Given the description of an element on the screen output the (x, y) to click on. 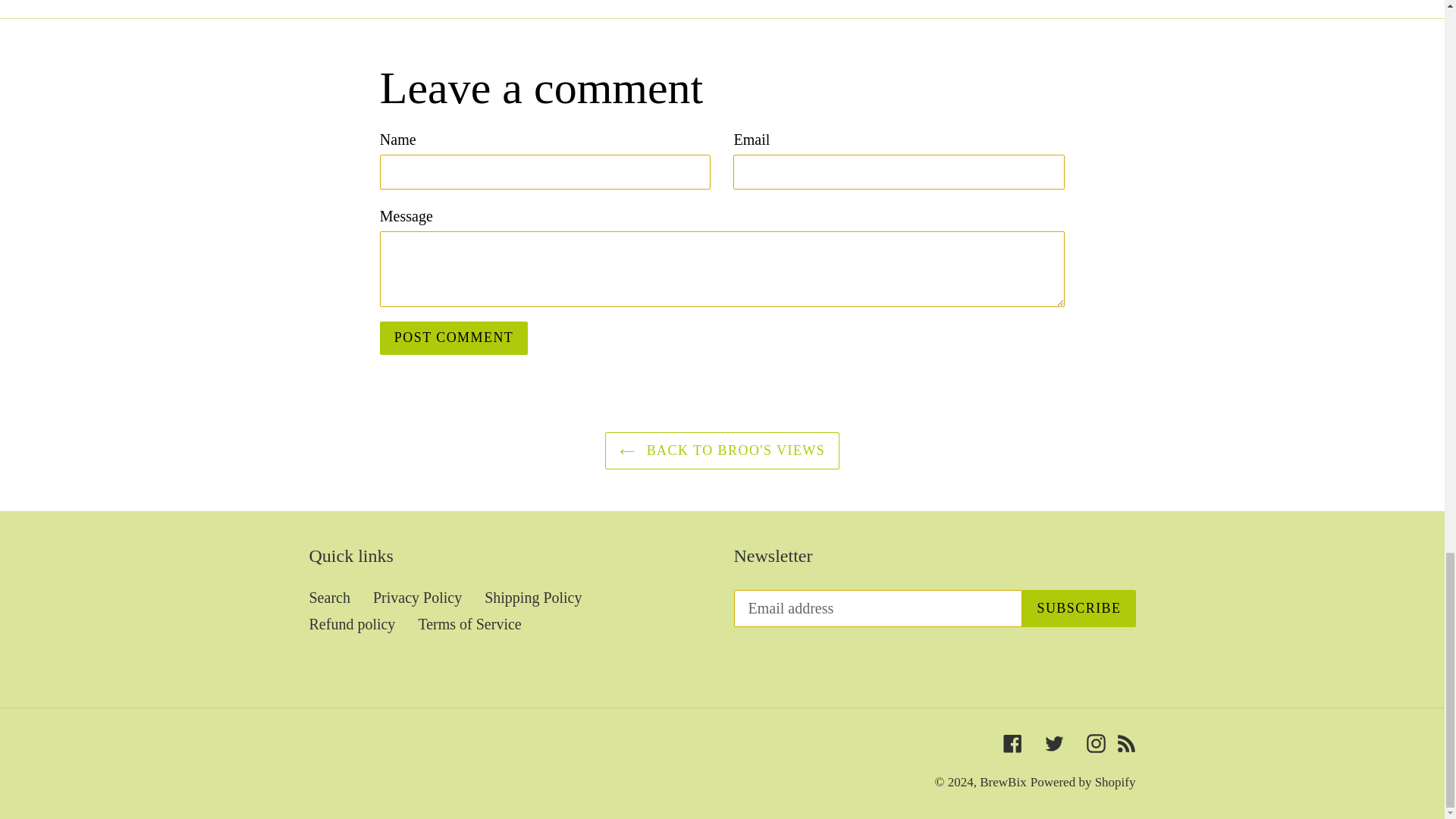
Post comment (453, 337)
BACK TO BROO'S VIEWS (722, 450)
Post comment (453, 337)
Search (329, 597)
